Given the description of an element on the screen output the (x, y) to click on. 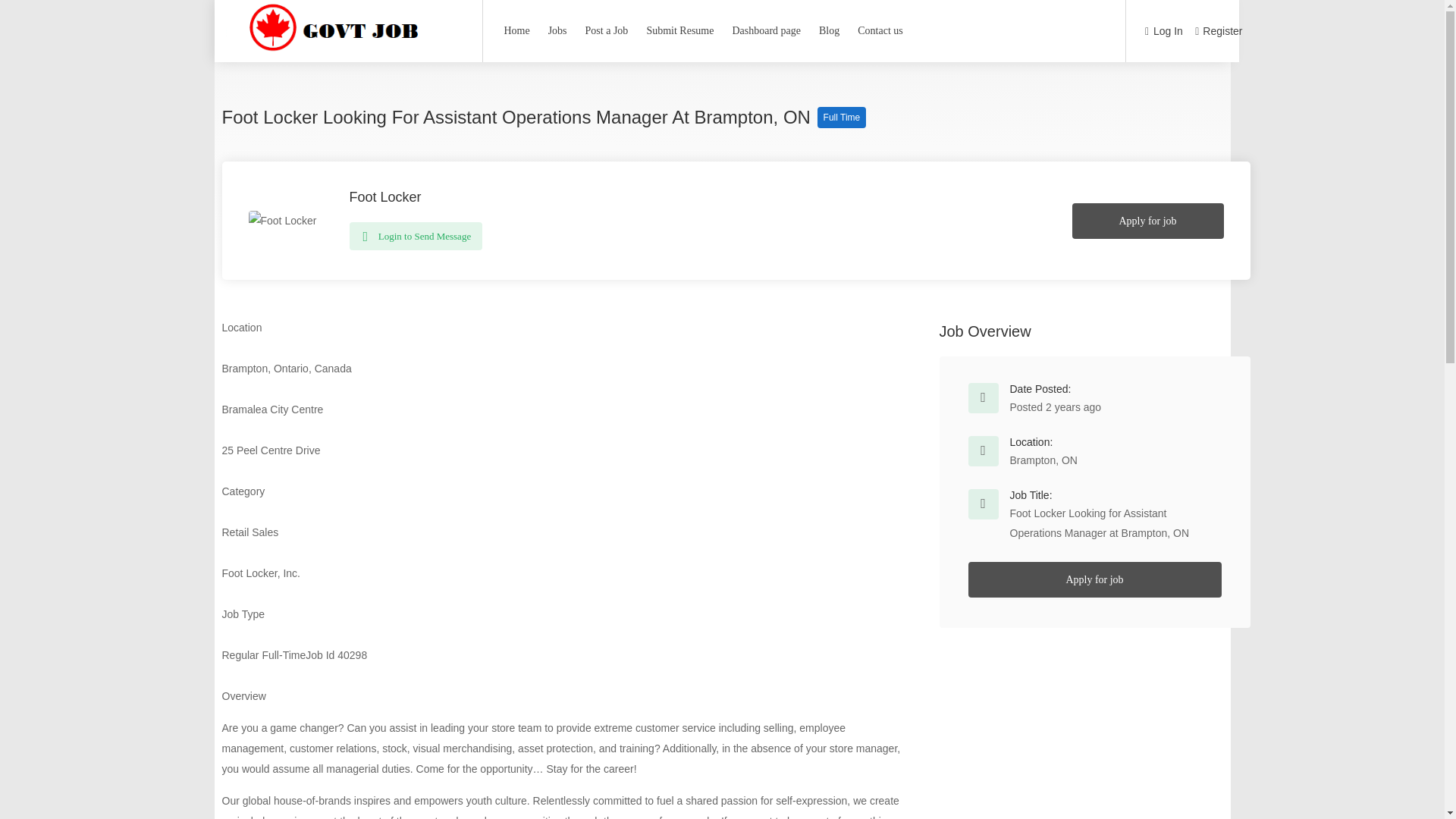
Dashboard page (766, 30)
Canada Government Jobs (342, 51)
Post a Job (606, 30)
Home (516, 30)
Login to Send Message (415, 235)
Jobs (557, 30)
Blog (828, 30)
Contact us (879, 30)
Submit Resume (679, 30)
